Given the description of an element on the screen output the (x, y) to click on. 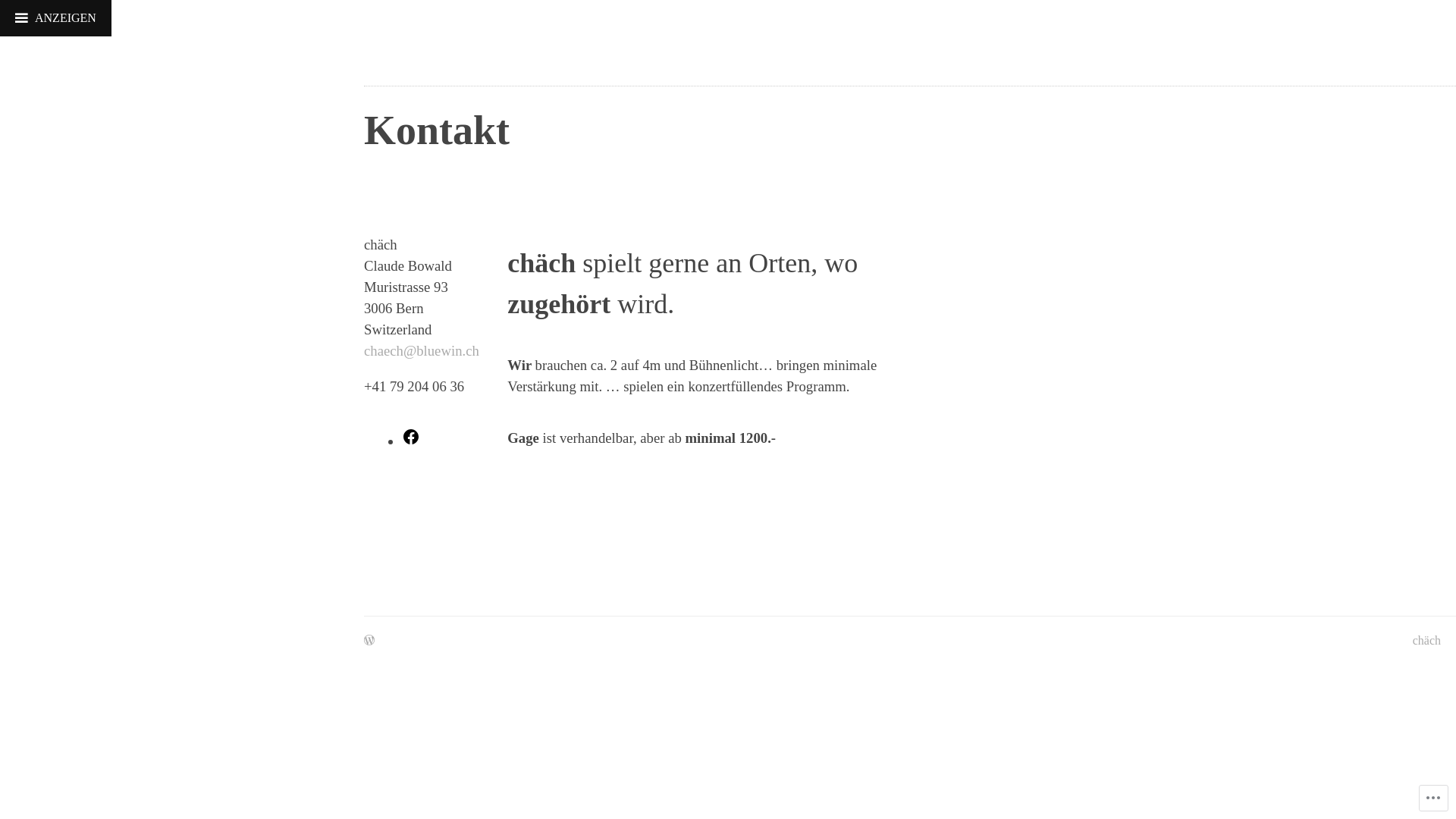
Erstelle eine Website oder ein Blog auf WordPress.com Element type: text (369, 640)
ANZEIGEN Element type: text (55, 18)
chaech@bluewin.ch Element type: text (421, 350)
